Given the description of an element on the screen output the (x, y) to click on. 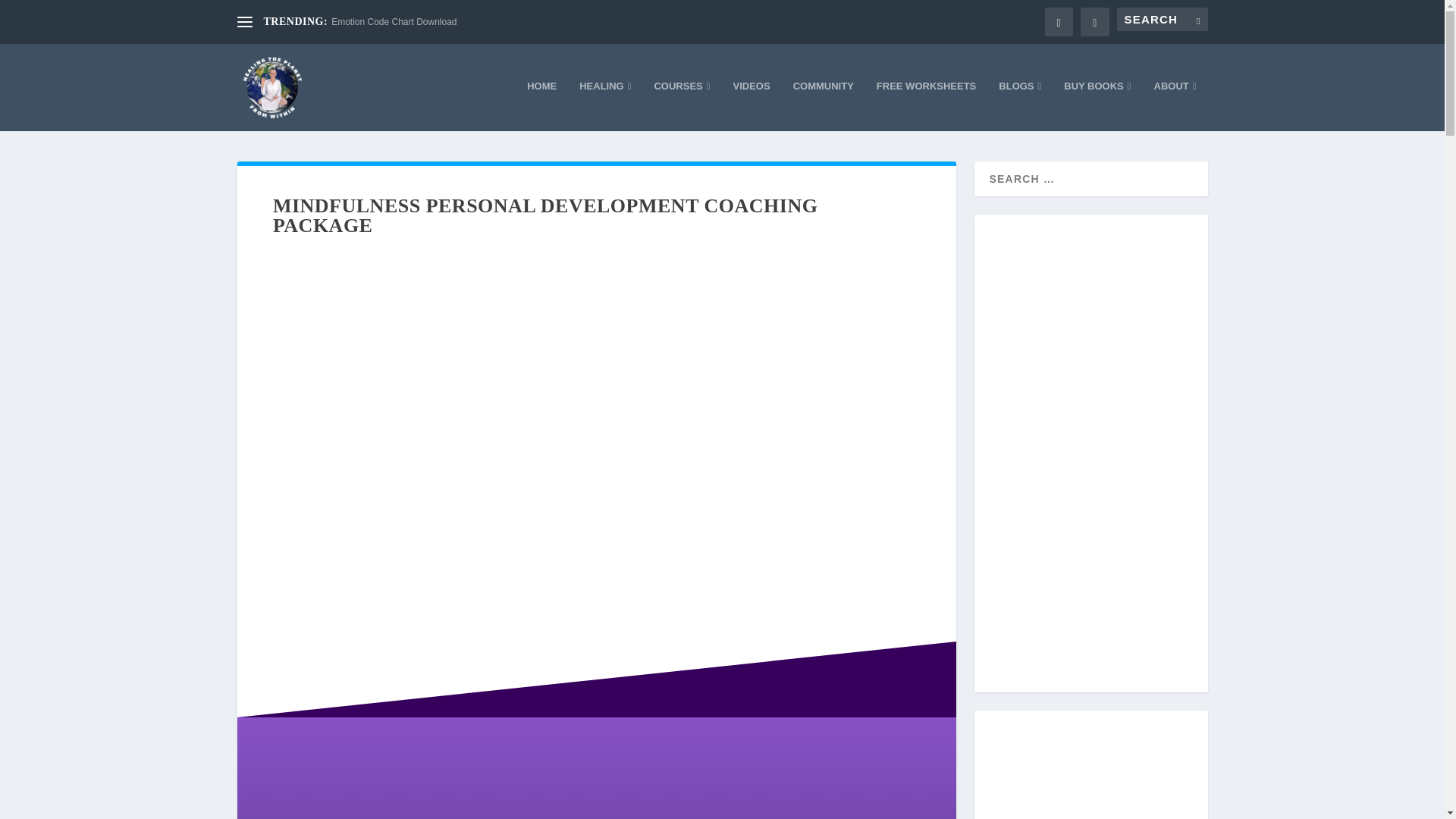
BUY BOOKS (1097, 105)
HEALING (604, 105)
FREE WORKSHEETS (925, 105)
COMMUNITY (823, 105)
Search for: (1161, 19)
COURSES (681, 105)
Emotion Code Chart Download (394, 21)
